Given the description of an element on the screen output the (x, y) to click on. 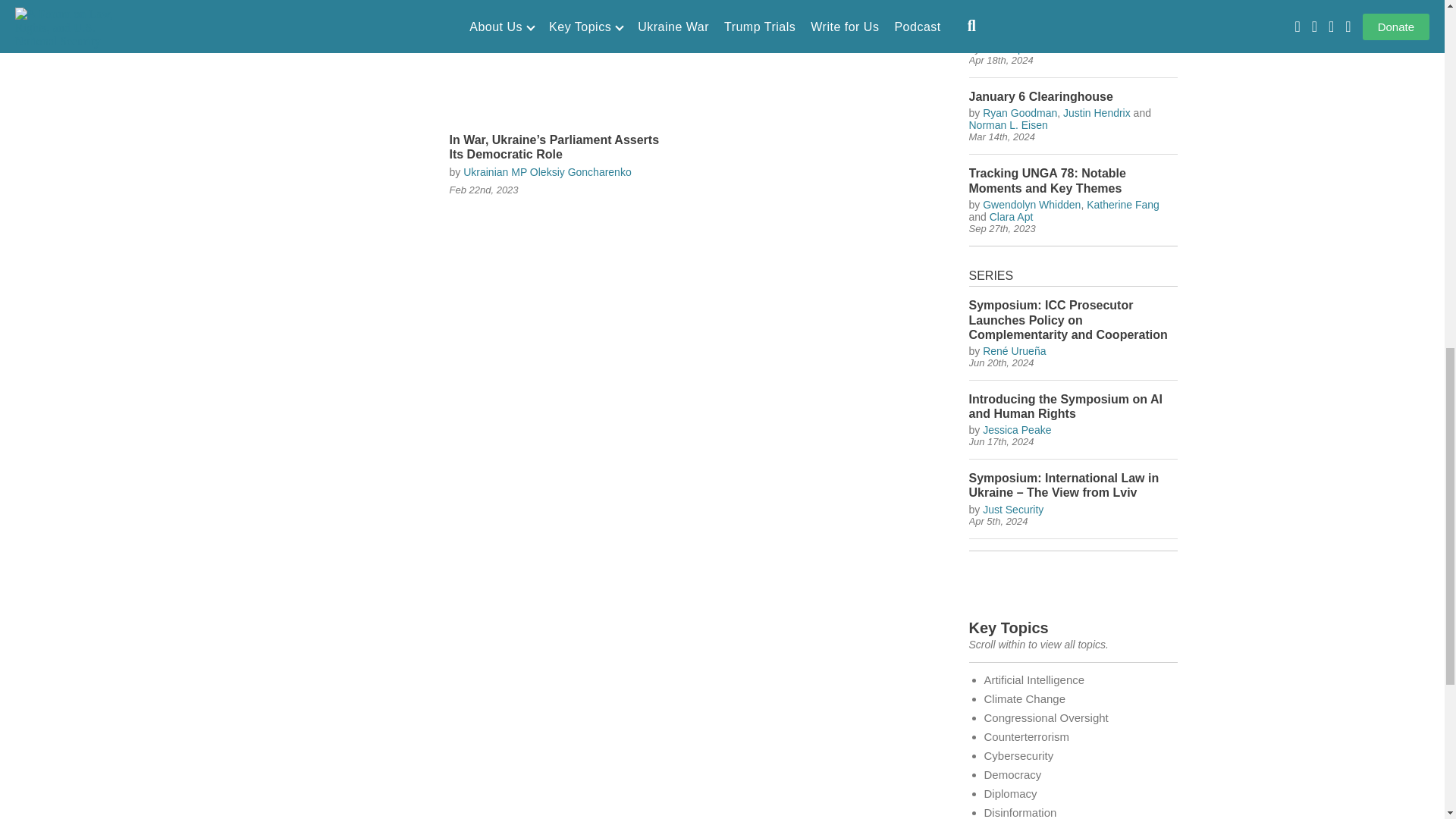
Profile and articles by Ukrainian MP Oleksiy Goncharenko (547, 172)
